Given the description of an element on the screen output the (x, y) to click on. 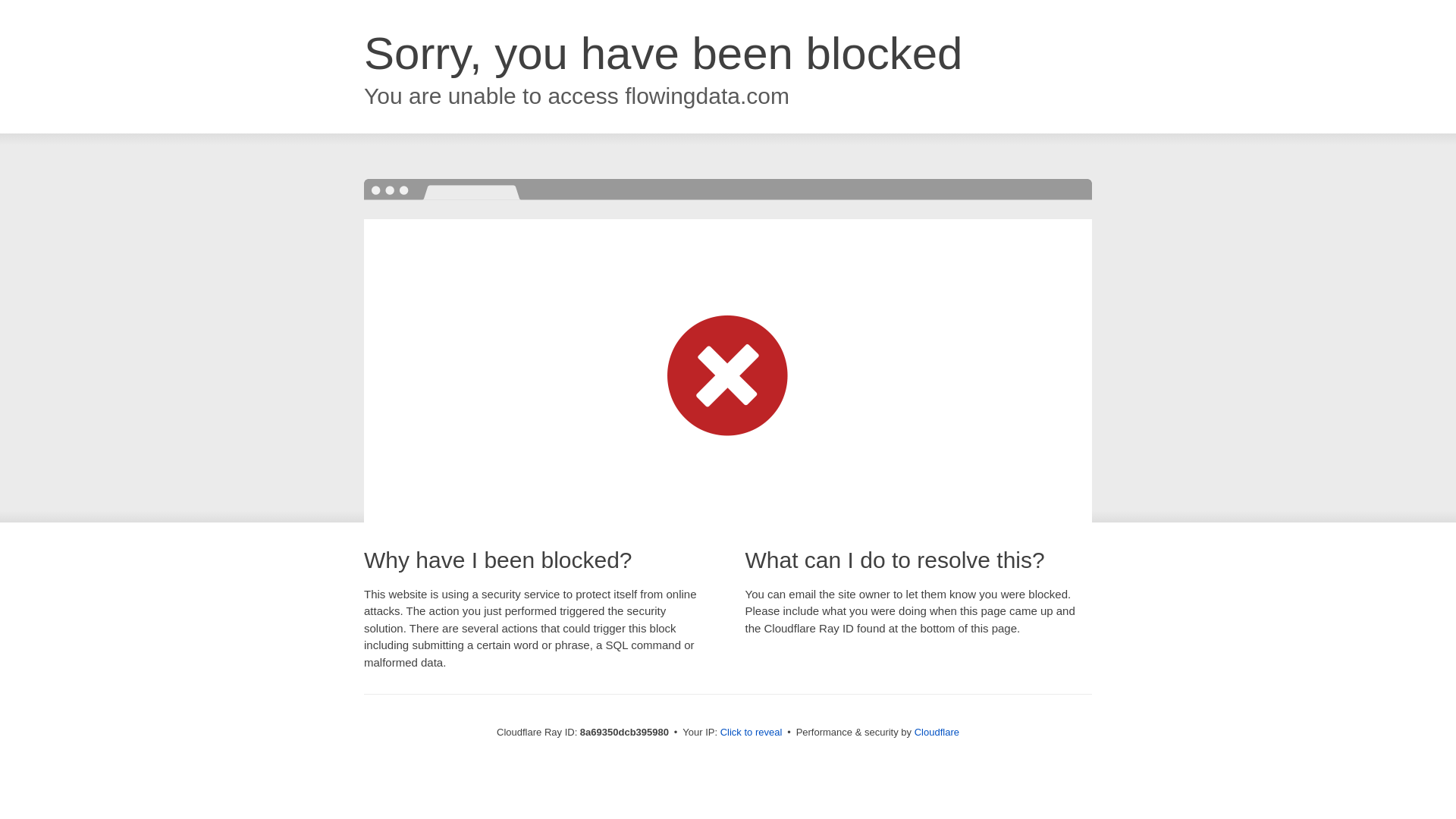
Click to reveal (751, 732)
Cloudflare (936, 731)
